Given the description of an element on the screen output the (x, y) to click on. 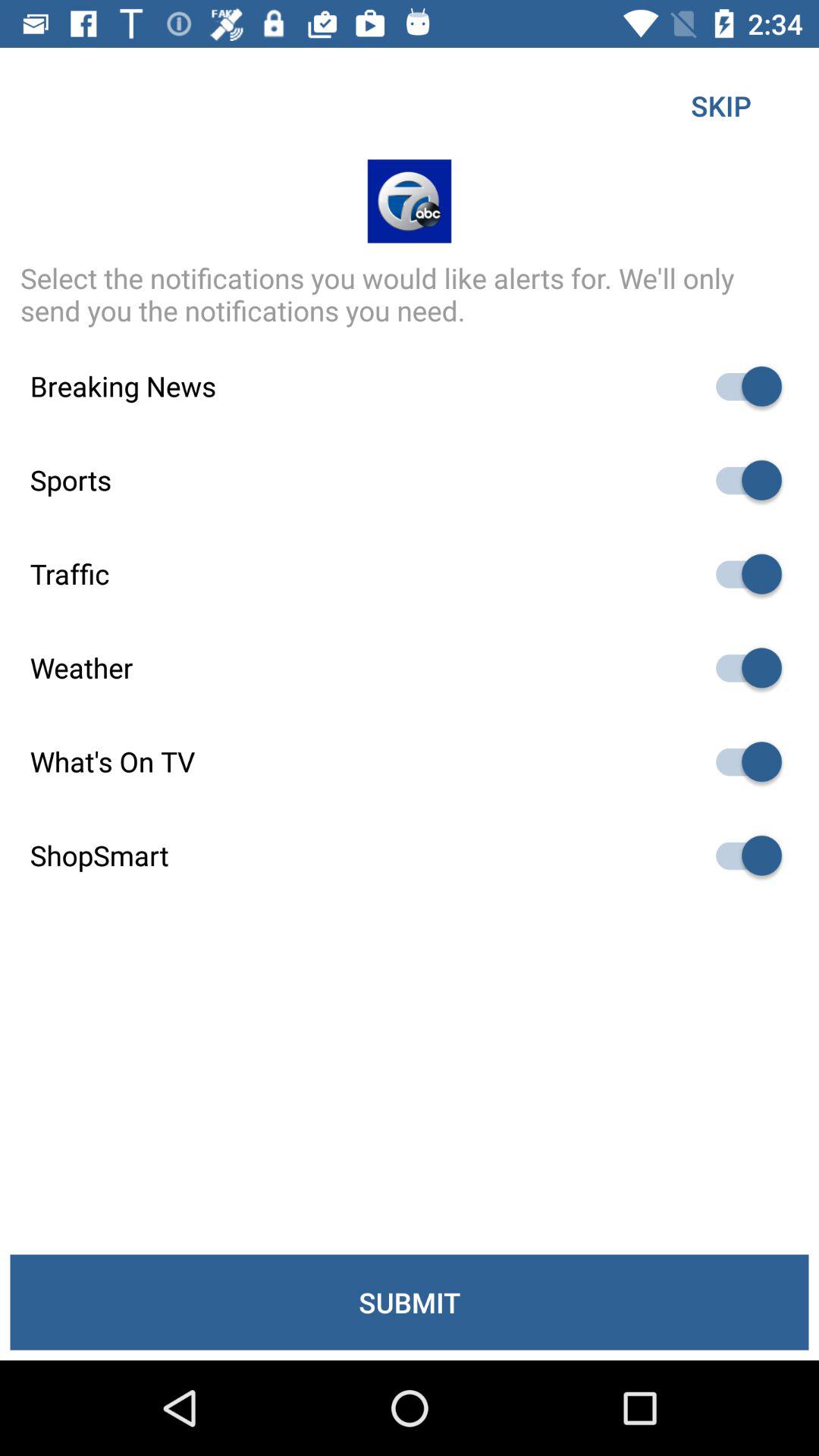
weather notification on or off (741, 667)
